Given the description of an element on the screen output the (x, y) to click on. 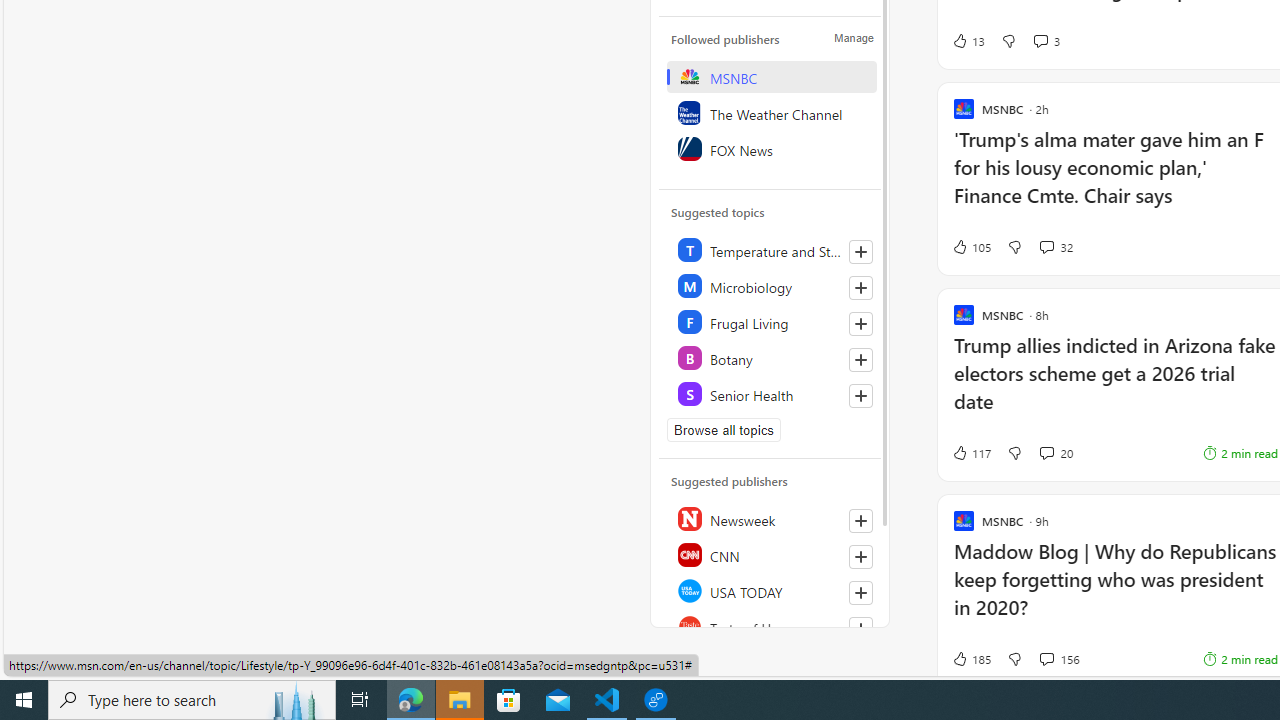
View comments 20 Comment (1055, 452)
Follow this source (860, 628)
185 Like (970, 659)
Follow this topic (860, 395)
View comments 156 Comment (1046, 658)
View comments 20 Comment (1046, 452)
Manage (854, 37)
View comments 156 Comment (1059, 659)
Browse all topics (724, 430)
105 Like (970, 246)
View comments 3 Comment (1040, 40)
13 Like (968, 40)
Follow this topic (860, 395)
Follow this source (860, 628)
